Given the description of an element on the screen output the (x, y) to click on. 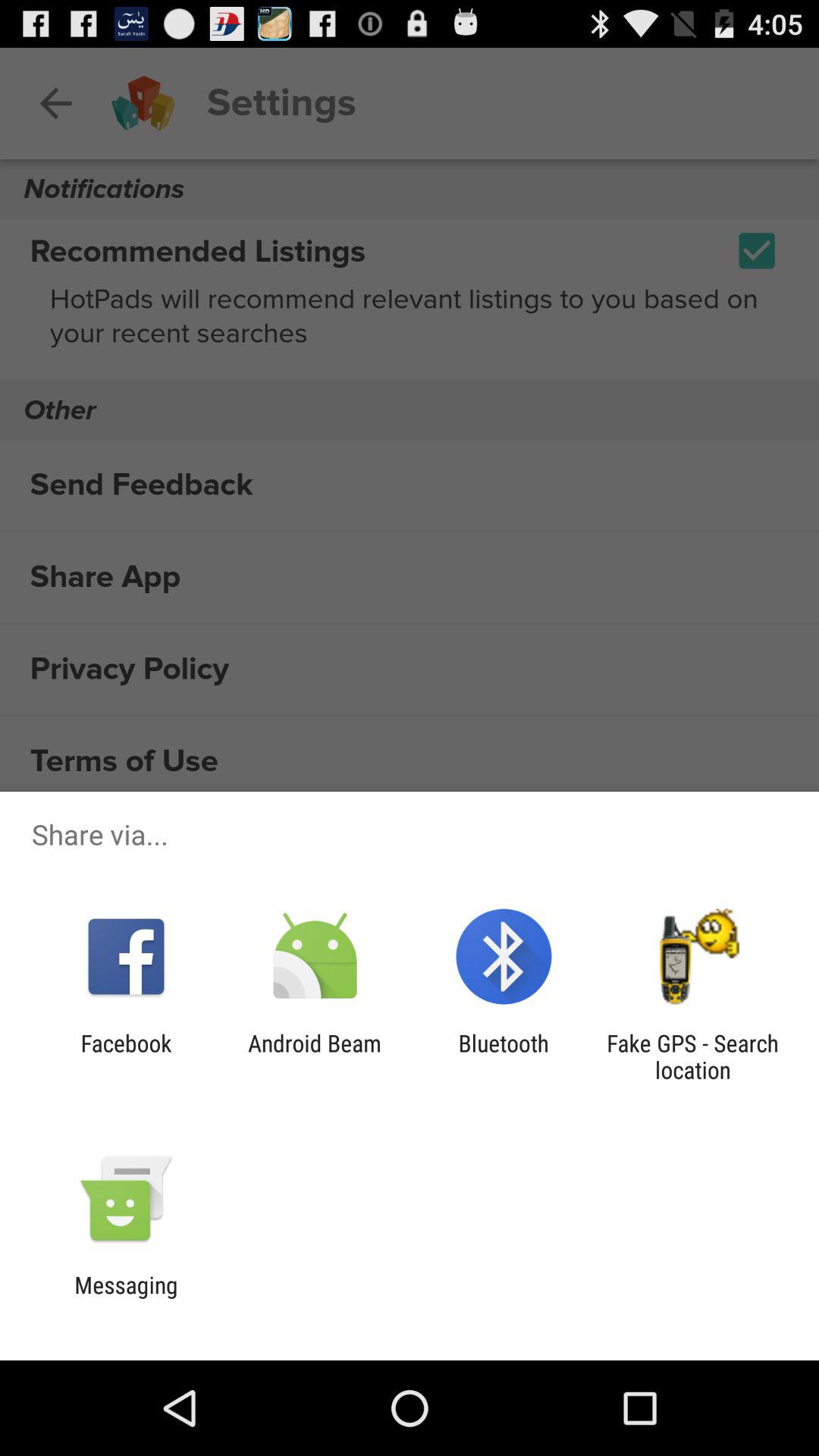
press app next to fake gps search item (503, 1056)
